Given the description of an element on the screen output the (x, y) to click on. 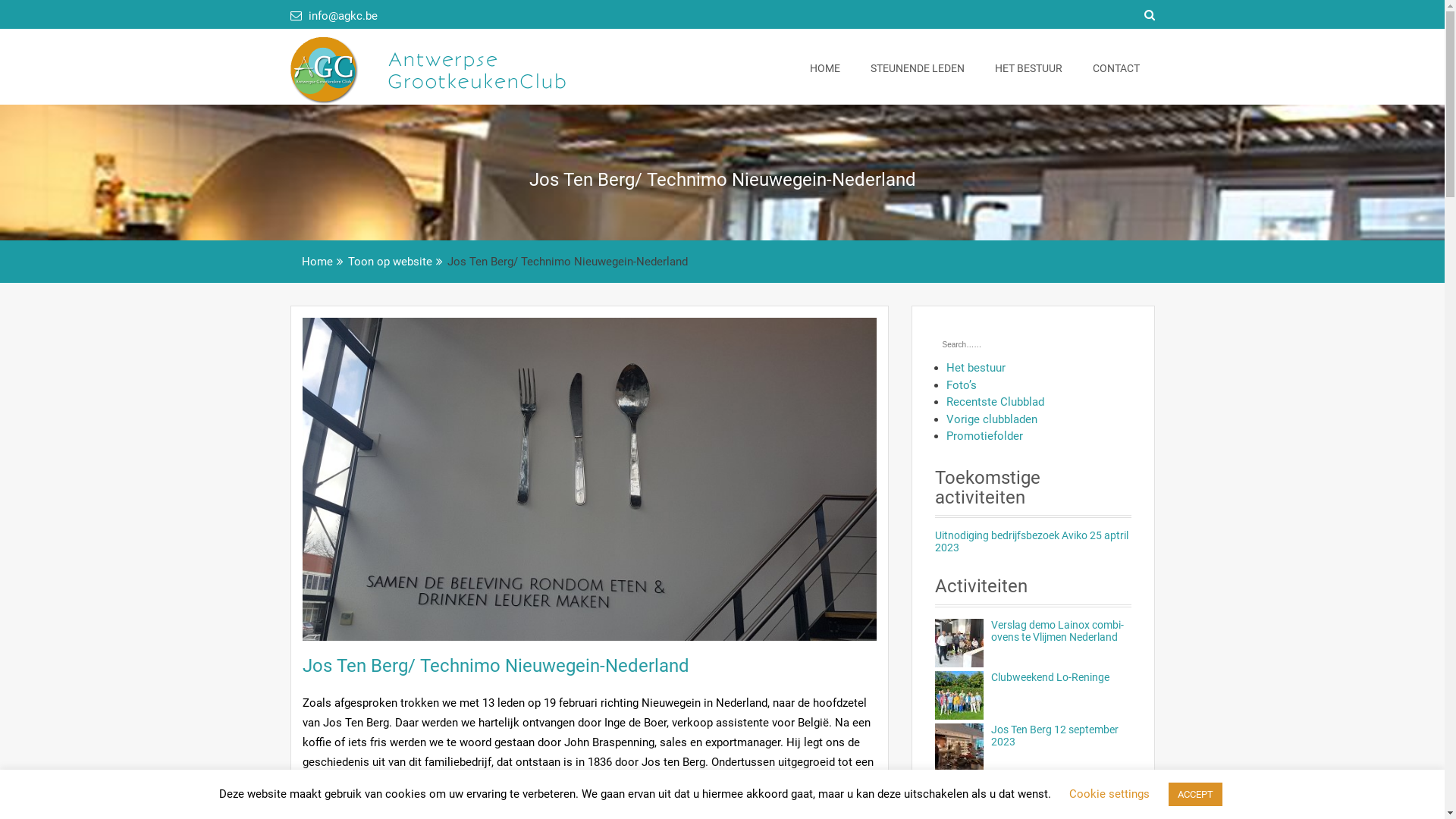
STEUNENDE LEDEN Element type: text (917, 68)
Verslag demo Lainox combi-ovens te Vlijmen Nederland Element type: text (1056, 630)
HOME Element type: text (824, 68)
ACCEPT Element type: text (1194, 794)
Het bestuur Element type: text (975, 367)
Vandemoortele te Gellingen( Ghislenghein) Element type: text (1056, 787)
Vorige clubbladen Element type: text (991, 419)
Home Element type: text (316, 261)
info@agkc.be Element type: text (332, 15)
Uitnodiging bedrijfsbezoek Aviko 25 aptril 2023 Element type: text (1030, 541)
Promotiefolder Element type: text (984, 435)
Clubweekend Lo-Reninge Element type: text (1049, 677)
HET BESTUUR Element type: text (1028, 68)
Jos Ten Berg/ Technimo Nieuwegein-Nederland Element type: text (494, 665)
Jos Ten Berg 12 september 2023 Element type: text (1053, 735)
Toon op website Element type: text (389, 261)
Recentste Clubblad Element type: text (995, 401)
Cookie settings Element type: text (1109, 793)
CONTACT Element type: text (1115, 68)
